Given the description of an element on the screen output the (x, y) to click on. 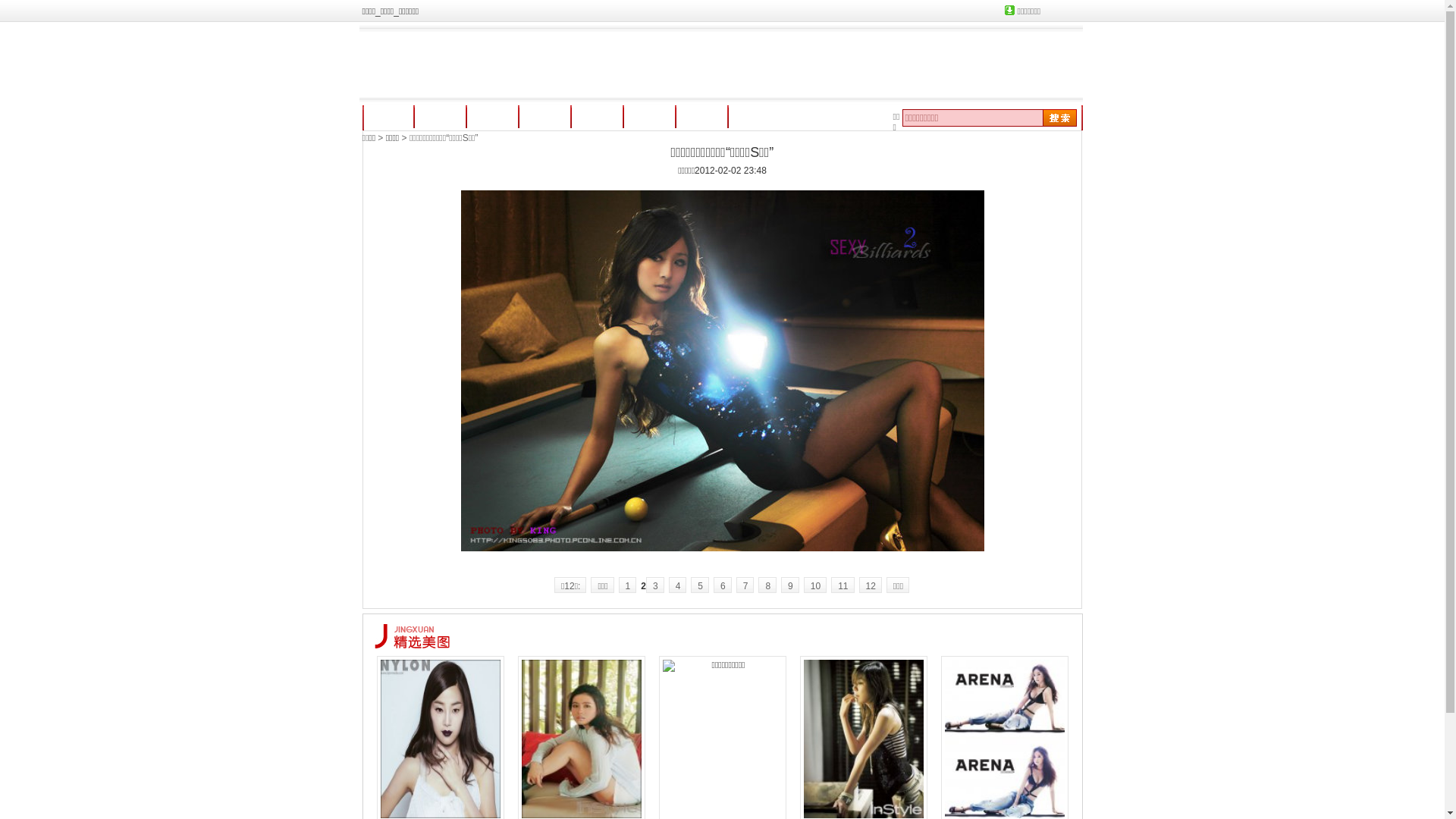
9 Element type: text (790, 585)
1 Element type: text (627, 585)
10 Element type: text (814, 585)
3 Element type: text (655, 585)
8 Element type: text (767, 585)
6 Element type: text (722, 585)
4 Element type: text (677, 585)
11 Element type: text (842, 585)
12 Element type: text (869, 585)
5 Element type: text (699, 585)
7 Element type: text (745, 585)
